Given the description of an element on the screen output the (x, y) to click on. 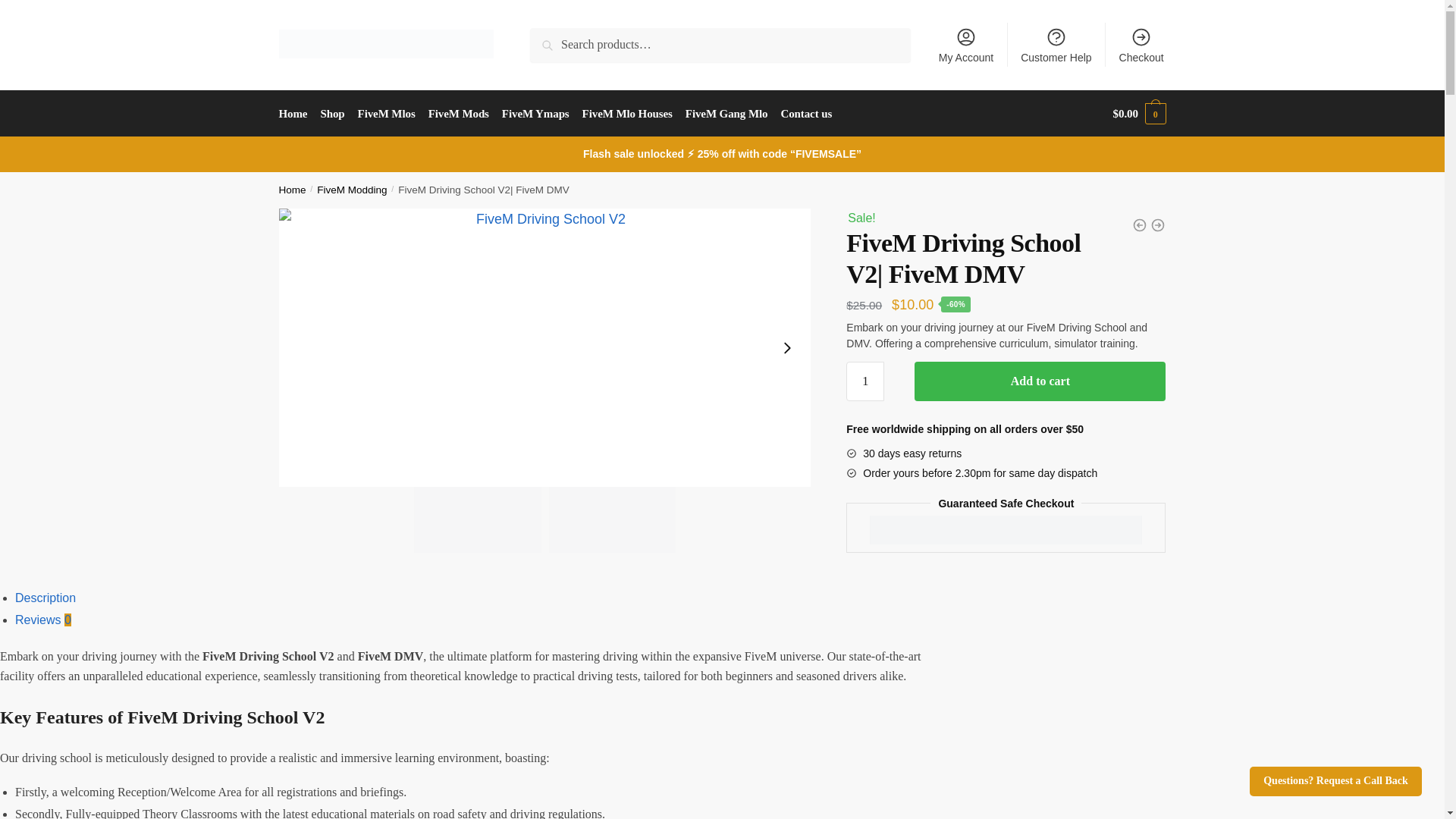
Contact us (806, 113)
1 (864, 381)
FiveM Mods (458, 113)
Add to cart (1040, 381)
Search (550, 38)
Checkout (1141, 44)
FiveM Ymaps (535, 113)
FiveM Mlo Houses (626, 113)
View your shopping cart (1139, 113)
